Given the description of an element on the screen output the (x, y) to click on. 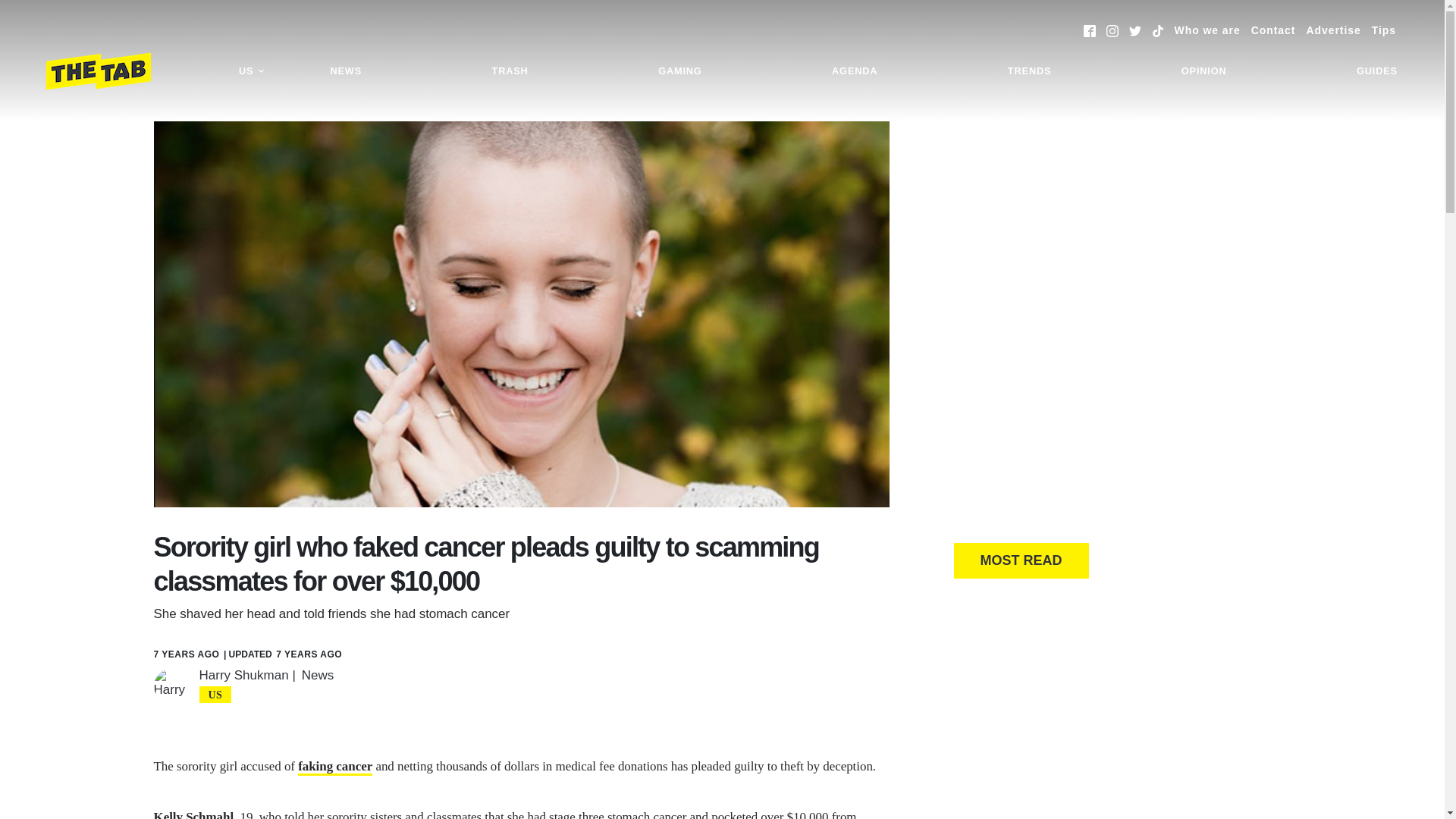
NEWS (345, 71)
OPINION (1204, 71)
AGENDA (854, 71)
Advertise (1332, 29)
TRASH (510, 71)
US (251, 71)
Contact (1272, 29)
Tips (1383, 29)
GUIDES (1377, 71)
TRENDS (1028, 71)
